Given the description of an element on the screen output the (x, y) to click on. 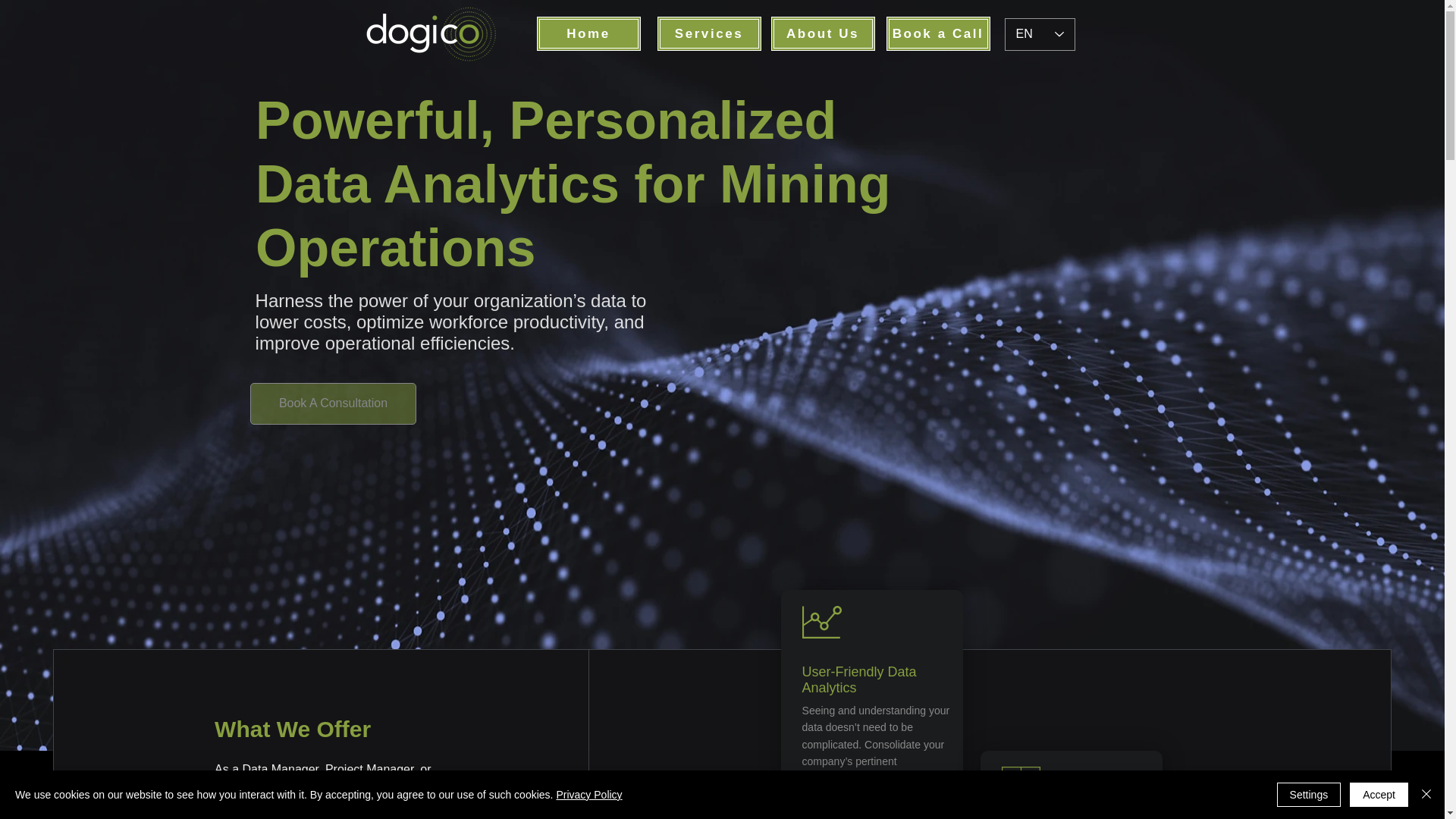
Services (708, 33)
About Us (822, 33)
Settings (1308, 794)
Book a Call (937, 33)
Accept (1378, 794)
Privacy Policy (588, 794)
Book A Consultation (333, 404)
Home (588, 33)
